Given the description of an element on the screen output the (x, y) to click on. 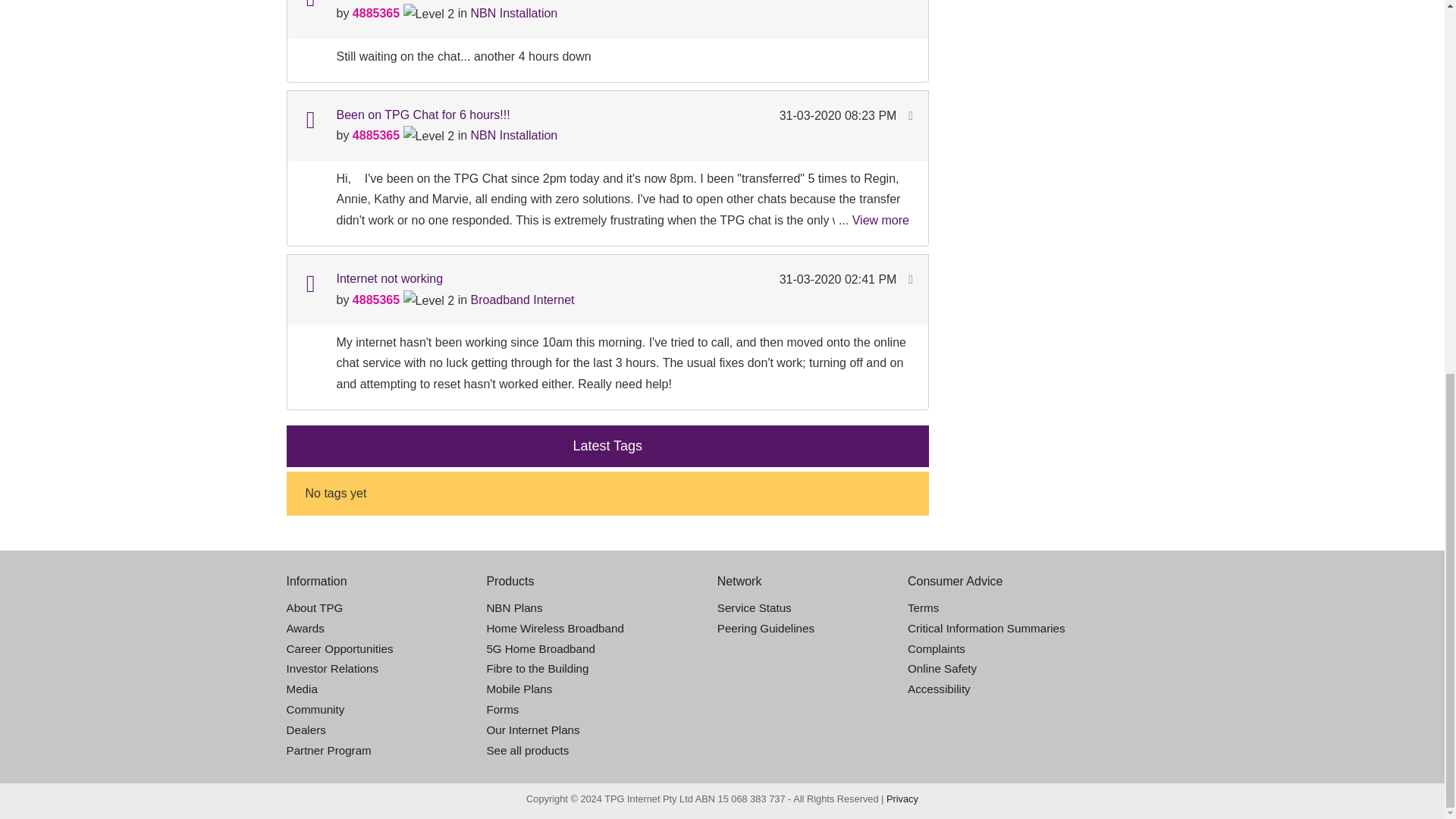
Level 2 (428, 136)
Level 2 (428, 14)
Forum (309, 283)
Posted on (838, 2)
Posted on (838, 115)
Forum (309, 6)
Forum (309, 119)
Level 2 (428, 300)
